Given the description of an element on the screen output the (x, y) to click on. 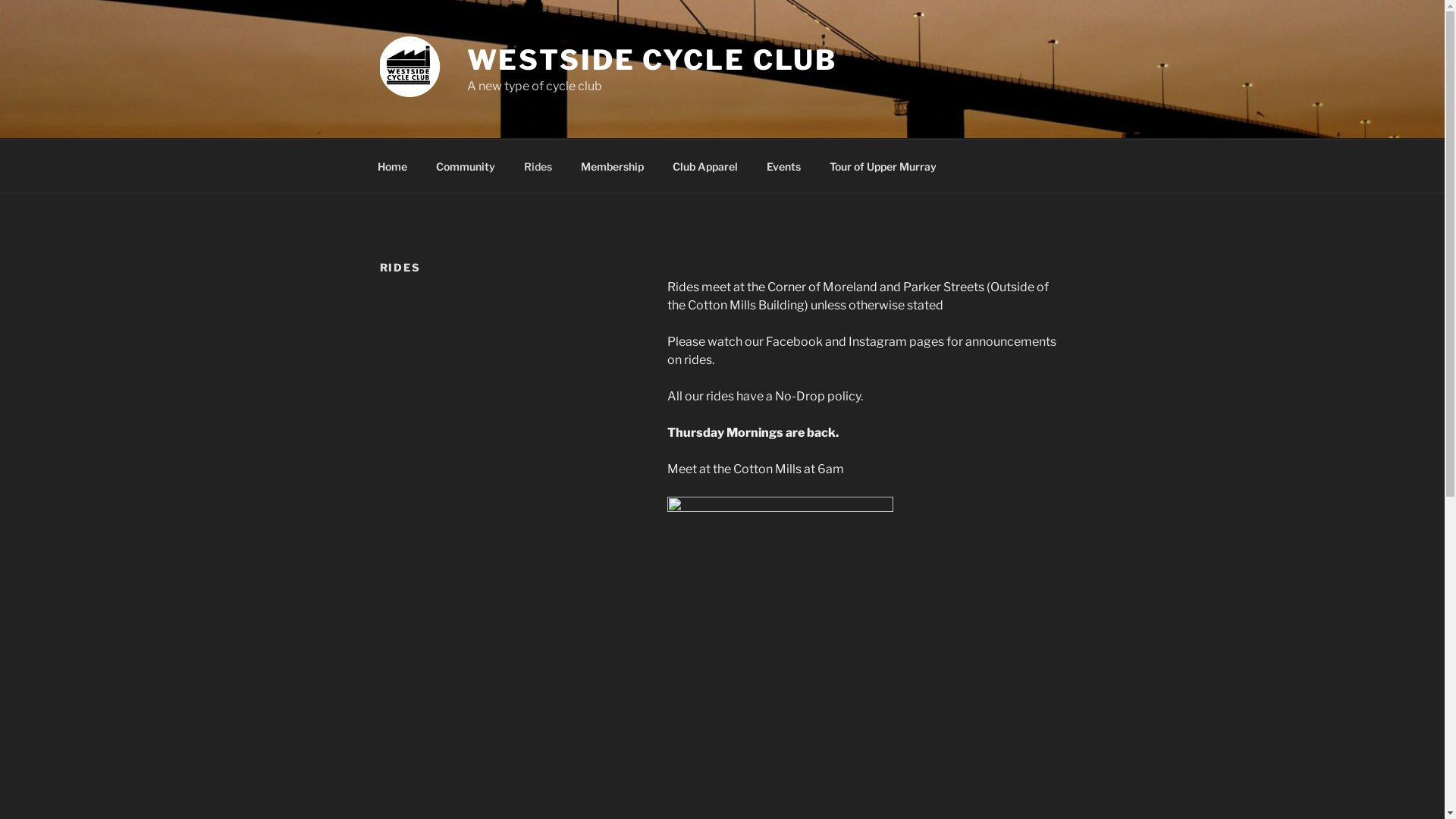
Club Apparel Element type: text (705, 165)
Events Element type: text (783, 165)
Home Element type: text (392, 165)
Rides Element type: text (538, 165)
Tour of Upper Murray Element type: text (882, 165)
Community Element type: text (465, 165)
WESTSIDE CYCLE CLUB Element type: text (652, 59)
Membership Element type: text (611, 165)
